Given the description of an element on the screen output the (x, y) to click on. 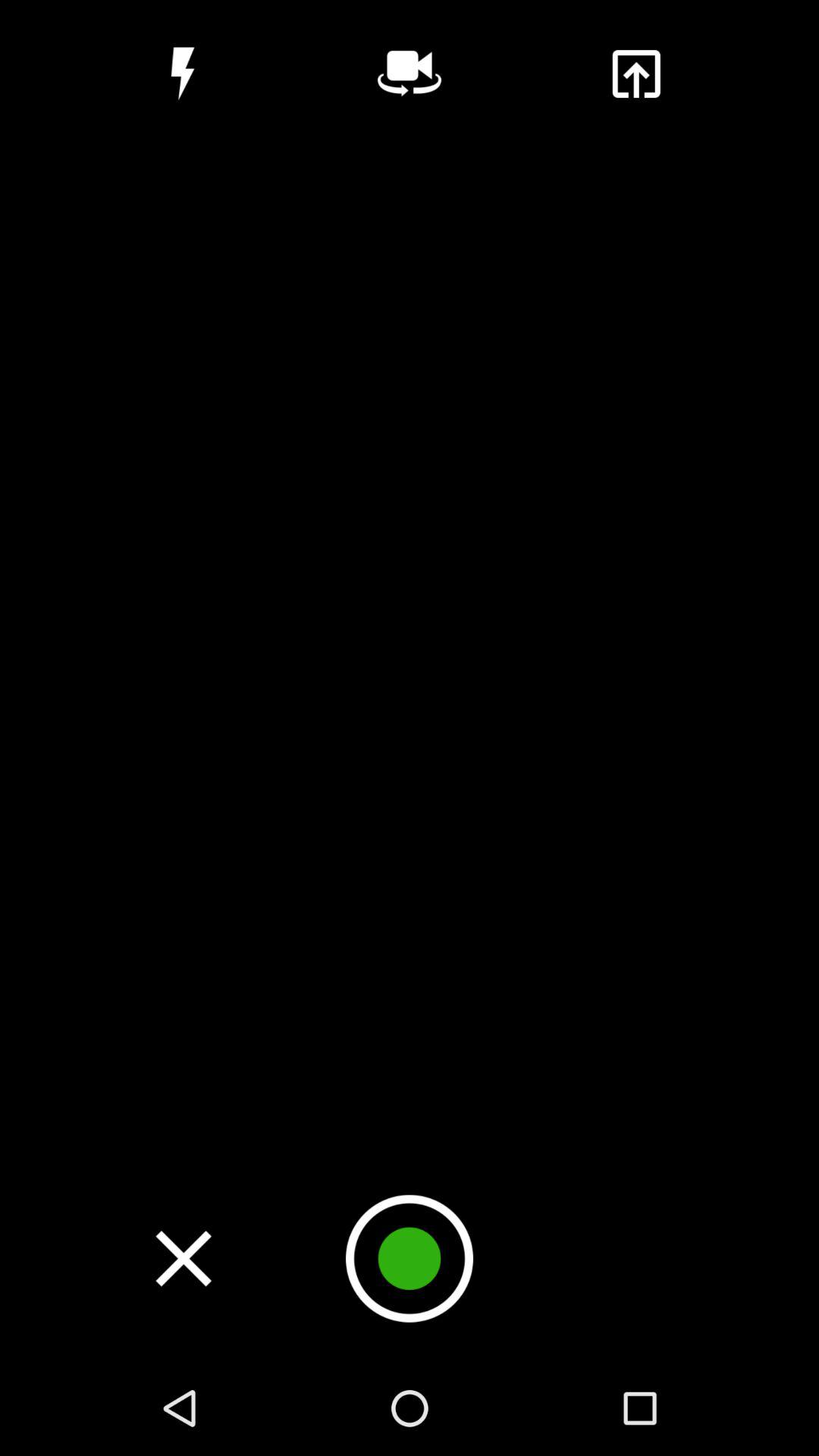
flash icon (182, 73)
